Given the description of an element on the screen output the (x, y) to click on. 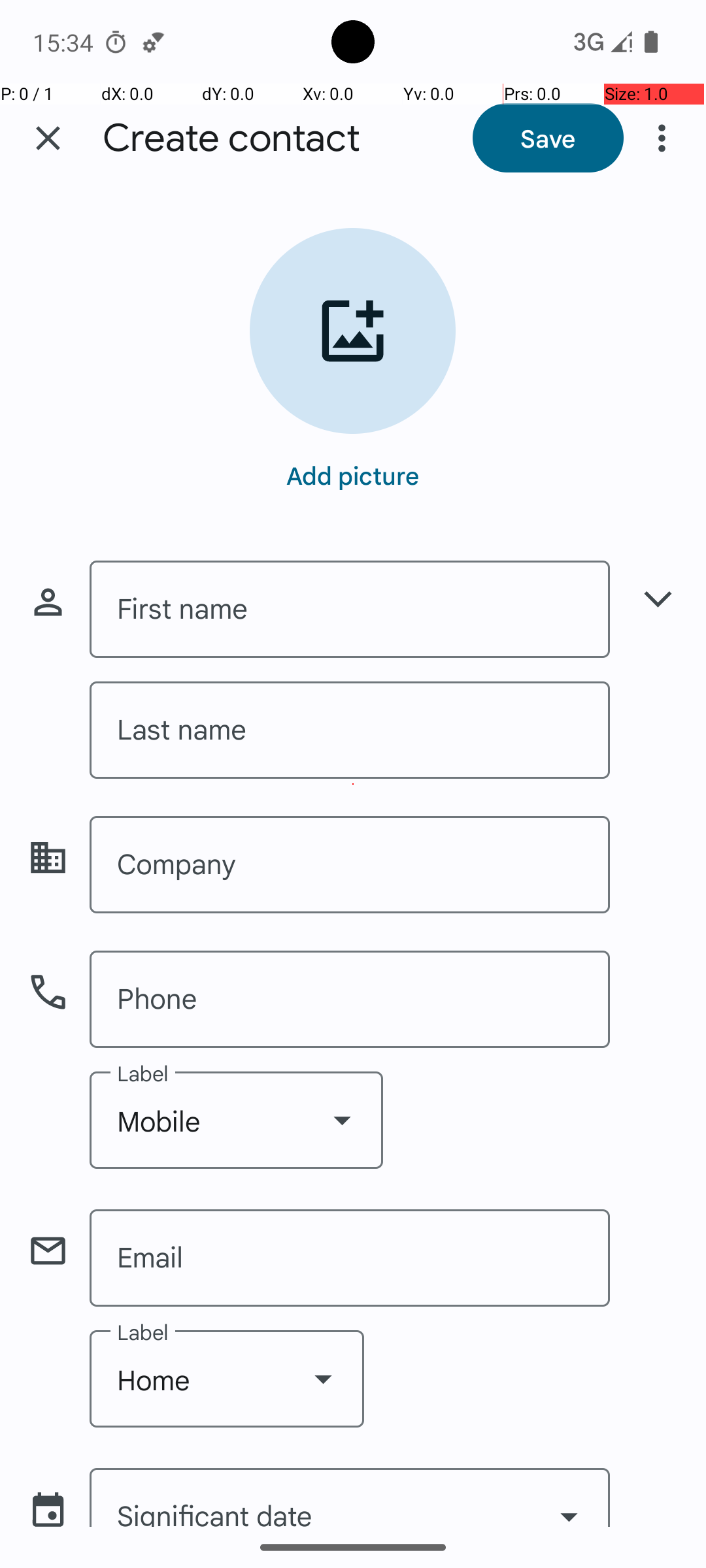
Add picture Element type: android.widget.Button (352, 474)
Significant date Element type: android.widget.EditText (349, 1497)
Show date picker Element type: android.widget.ImageButton (568, 1500)
